Given the description of an element on the screen output the (x, y) to click on. 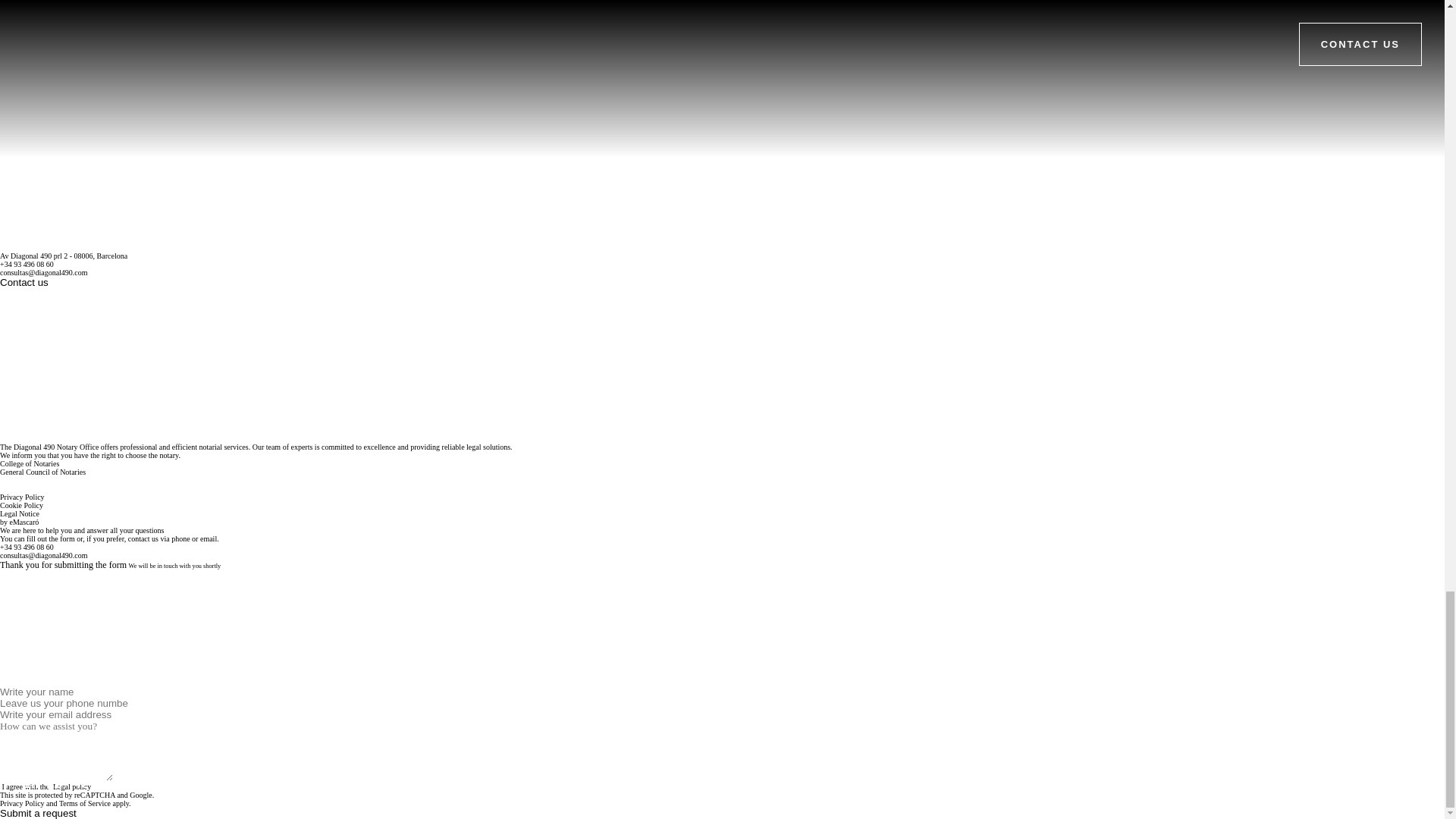
Legal policy (71, 786)
Terms of Service (84, 803)
Contact us (24, 282)
Legal policy (71, 786)
Cookie Policy (21, 505)
Privacy Policy (22, 497)
Legal Notice (19, 513)
General Council of Notaries (42, 471)
Privacy Policy (22, 803)
Legal Notice (19, 513)
